Given the description of an element on the screen output the (x, y) to click on. 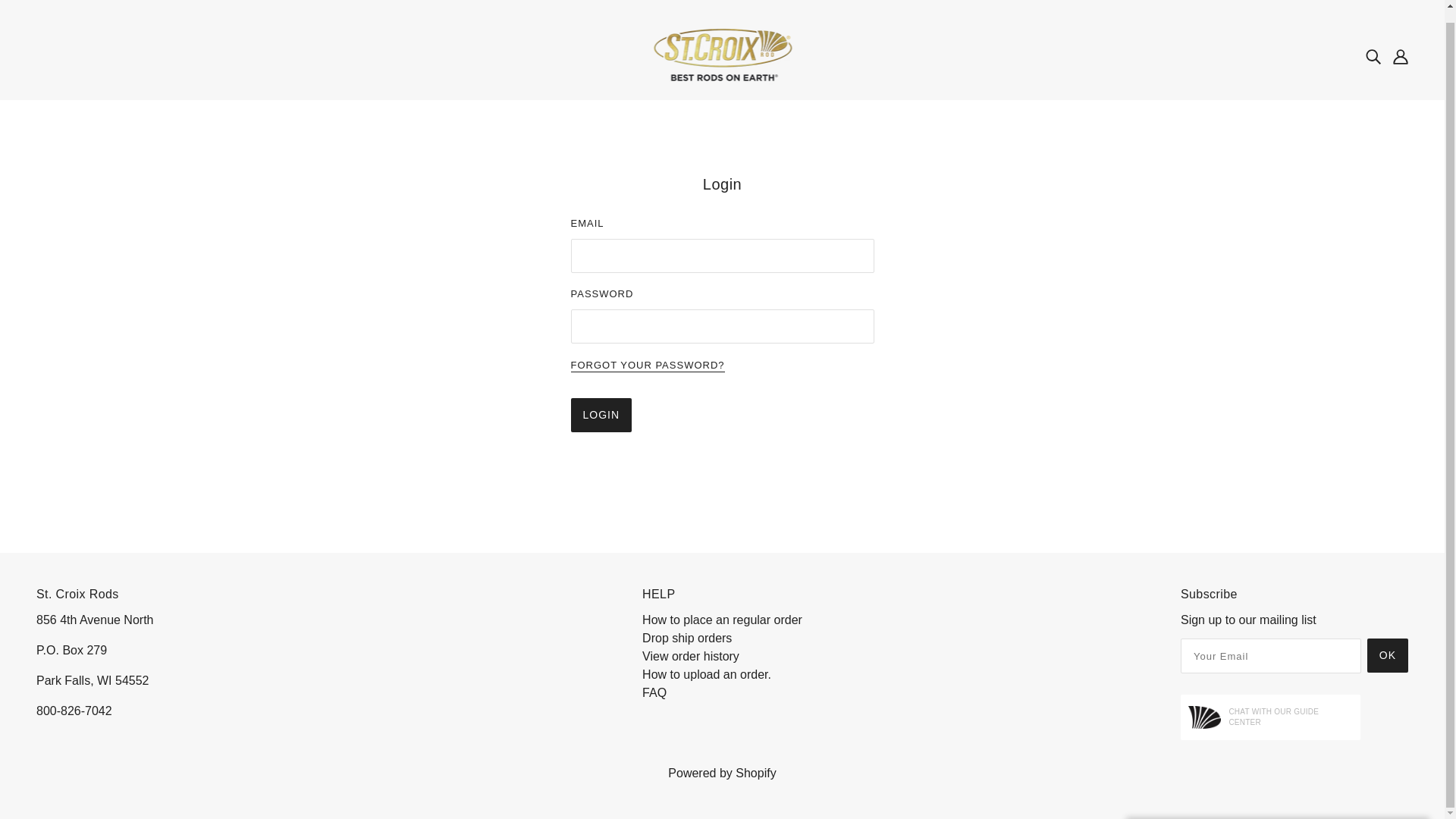
FAQ (654, 692)
How to place an regular order (722, 619)
Drop ship orders (687, 637)
St. Croix Rods - Dealer (722, 54)
How to upload an order. (706, 674)
View order history (690, 656)
